Given the description of an element on the screen output the (x, y) to click on. 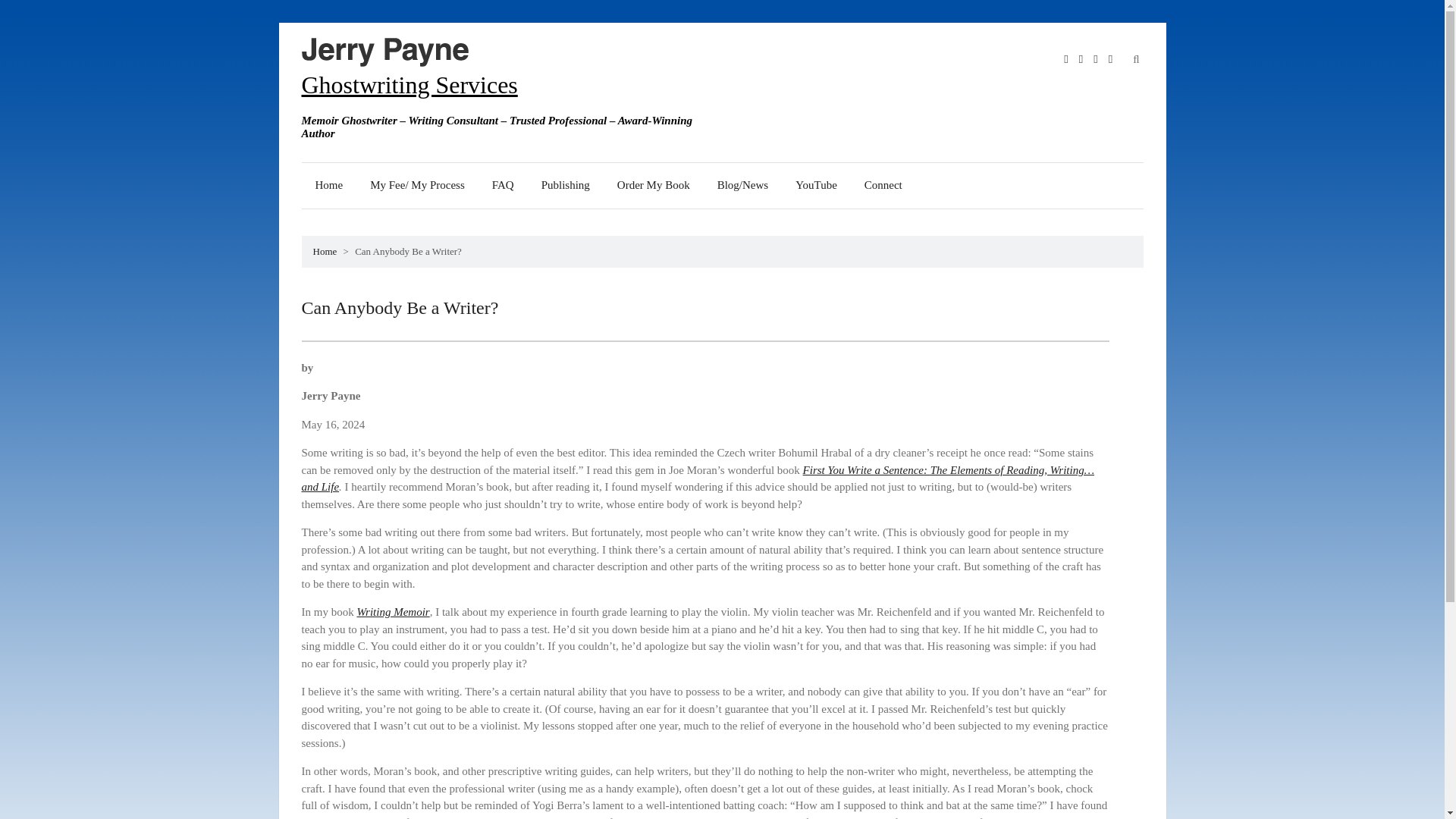
Search (1154, 96)
Order My Book (653, 185)
Home (328, 185)
Ghostwriting Services (409, 84)
YouTube (815, 185)
Connect (882, 185)
Publishing (565, 185)
Home (324, 251)
Writing Memoir (392, 612)
